Given the description of an element on the screen output the (x, y) to click on. 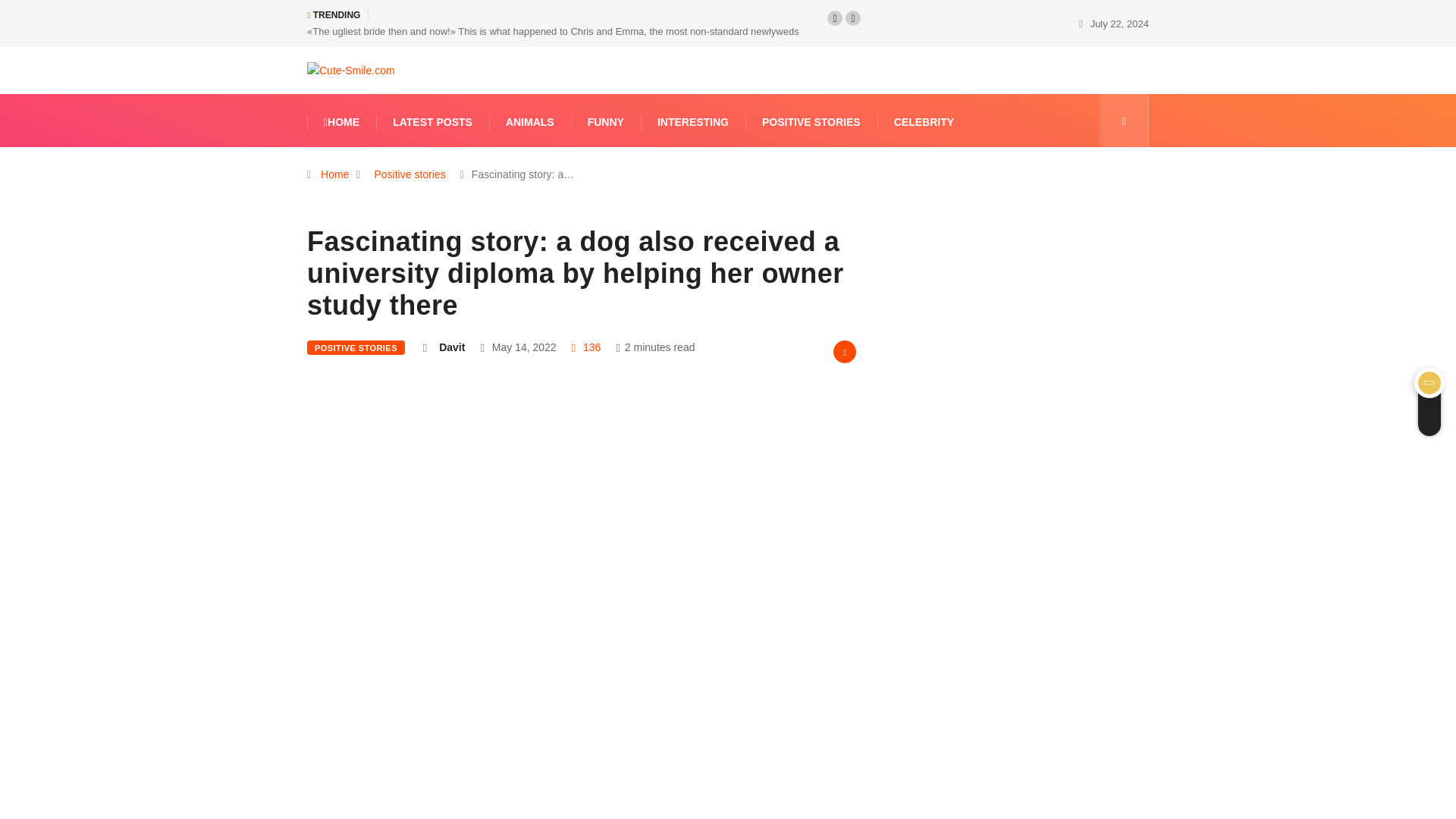
Home (334, 174)
Positive stories (408, 174)
LATEST POSTS (432, 122)
Davit (451, 346)
INTERESTING (692, 122)
popup modal for search (1123, 120)
POSITIVE STORIES (355, 347)
FUNNY (605, 122)
ANIMALS (529, 122)
CELEBRITY (924, 122)
POSITIVE STORIES (811, 122)
